Given the description of an element on the screen output the (x, y) to click on. 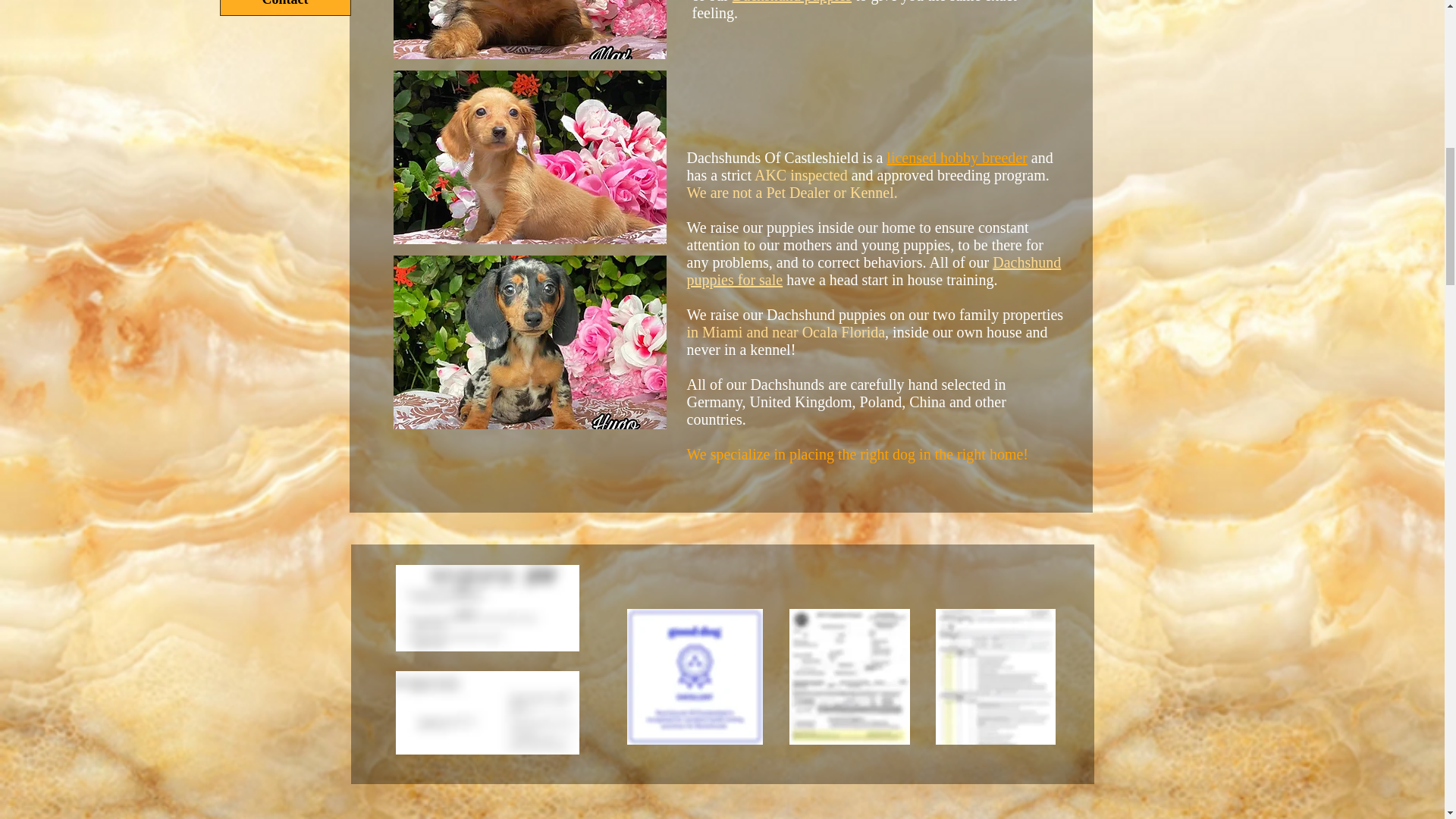
Dachshund puppies (791, 2)
licensed hobby breeder (956, 157)
Dachshund puppies for sale (874, 270)
